Given the description of an element on the screen output the (x, y) to click on. 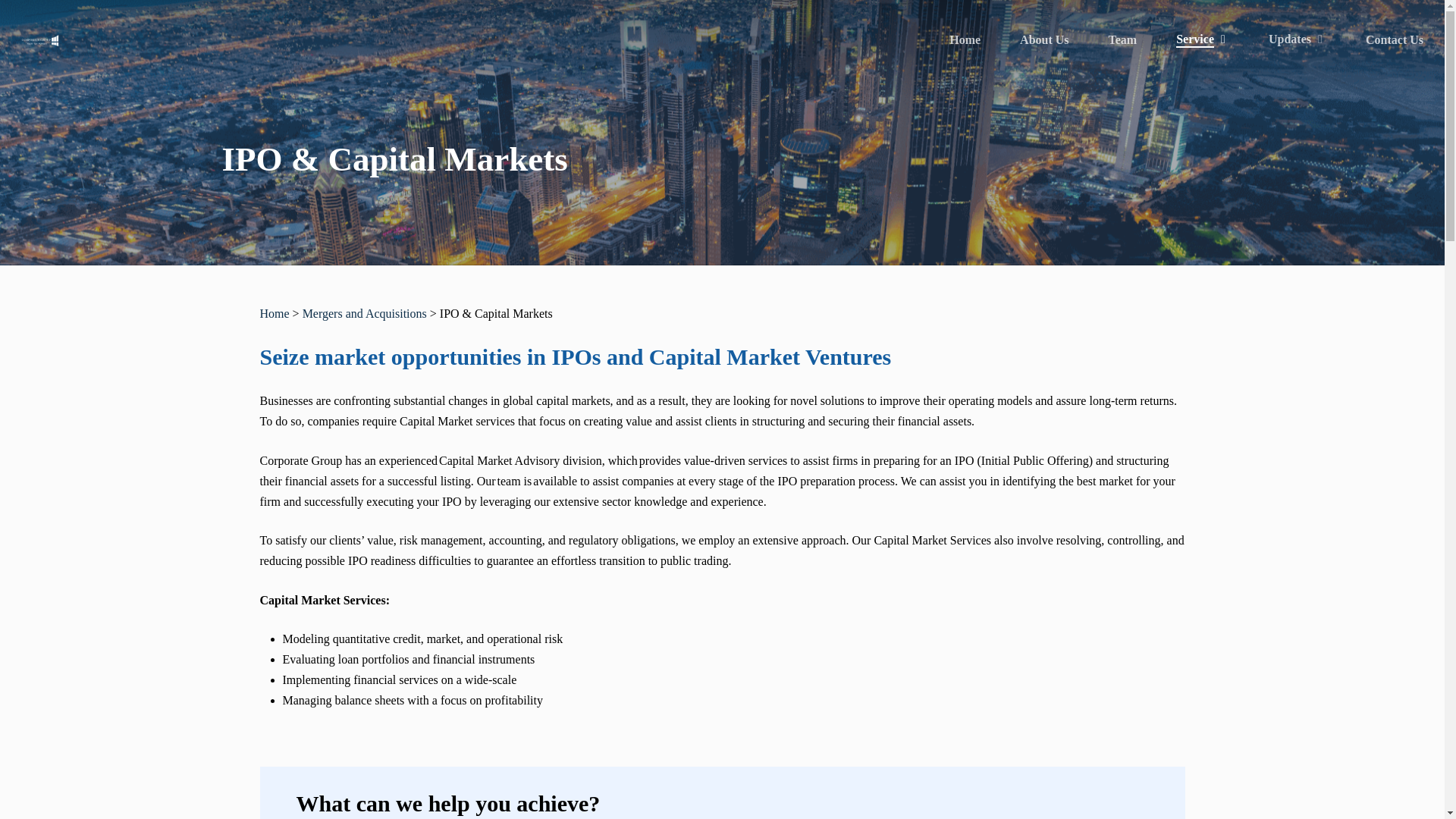
Team (1122, 39)
Home (964, 39)
About Us (1044, 39)
Service (1202, 39)
